Given the description of an element on the screen output the (x, y) to click on. 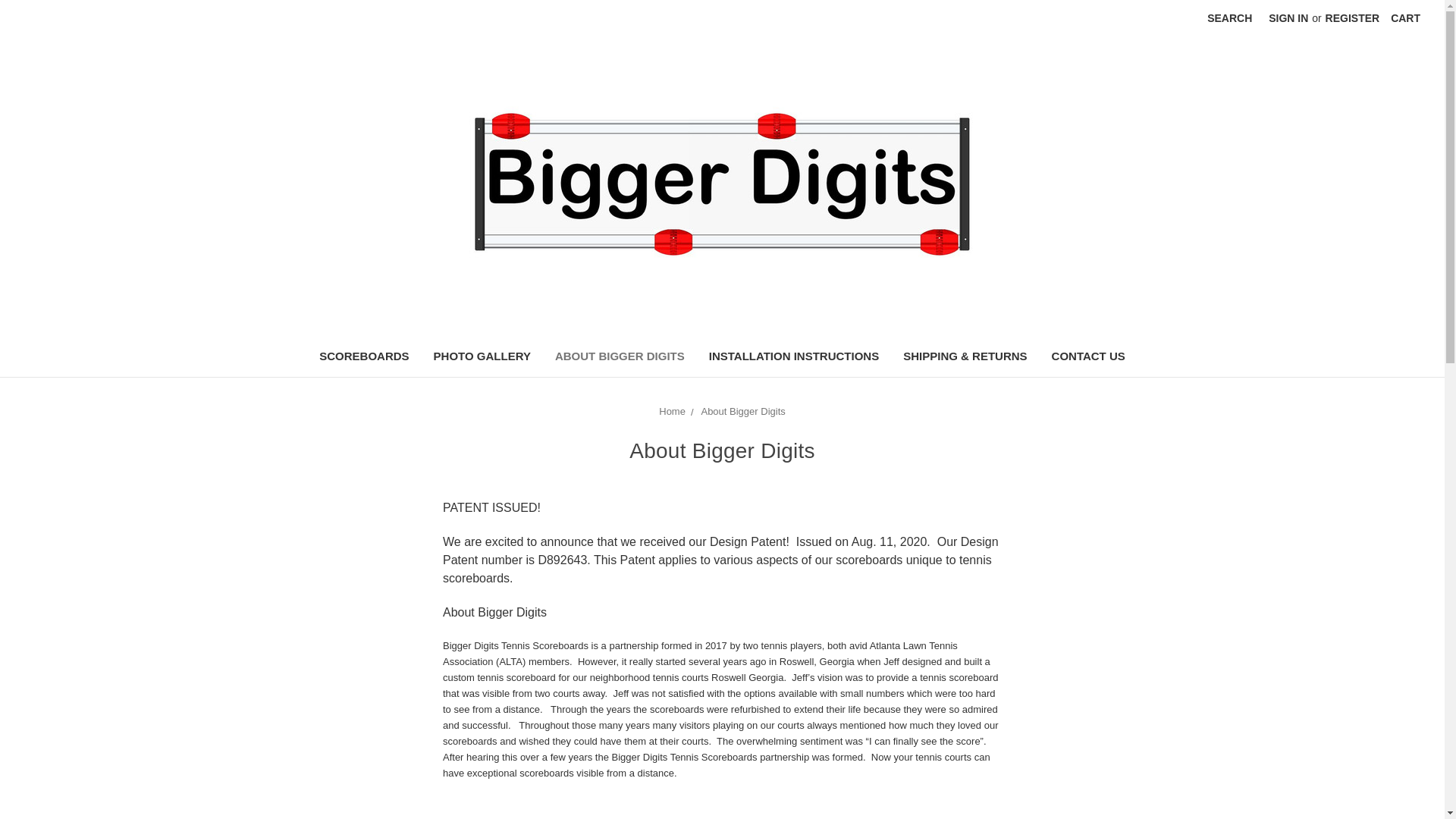
PHOTO GALLERY (482, 357)
REGISTER (1353, 18)
Bigger Digits Scoreboards (722, 185)
SEARCH (1229, 18)
ABOUT BIGGER DIGITS (620, 357)
SCOREBOARDS (363, 357)
SIGN IN (1288, 18)
Home (672, 410)
CART (1404, 18)
CONTACT US (1088, 357)
INSTALLATION INSTRUCTIONS (794, 357)
